Given the description of an element on the screen output the (x, y) to click on. 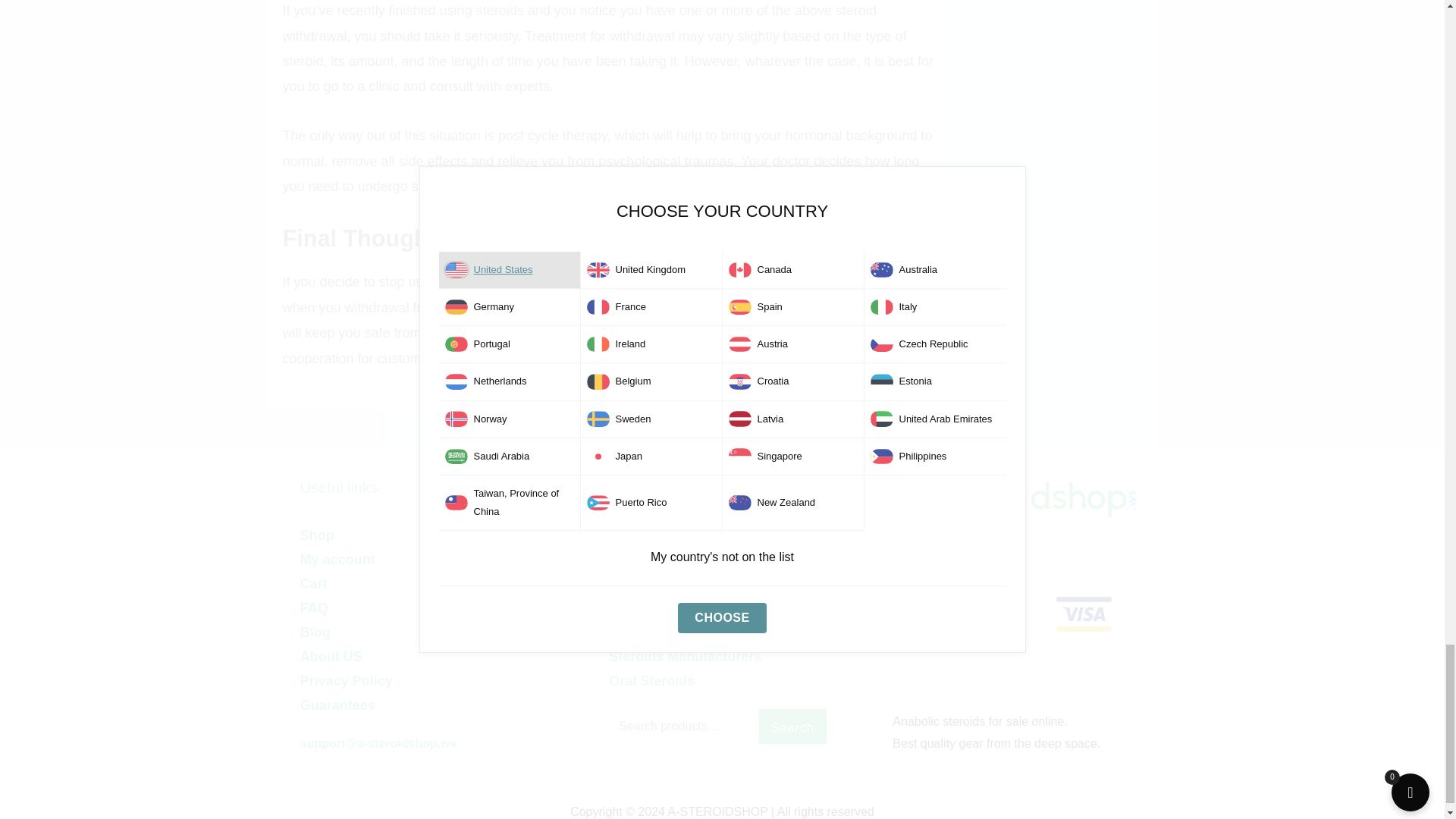
Mister Olympia Shop (996, 496)
